Given the description of an element on the screen output the (x, y) to click on. 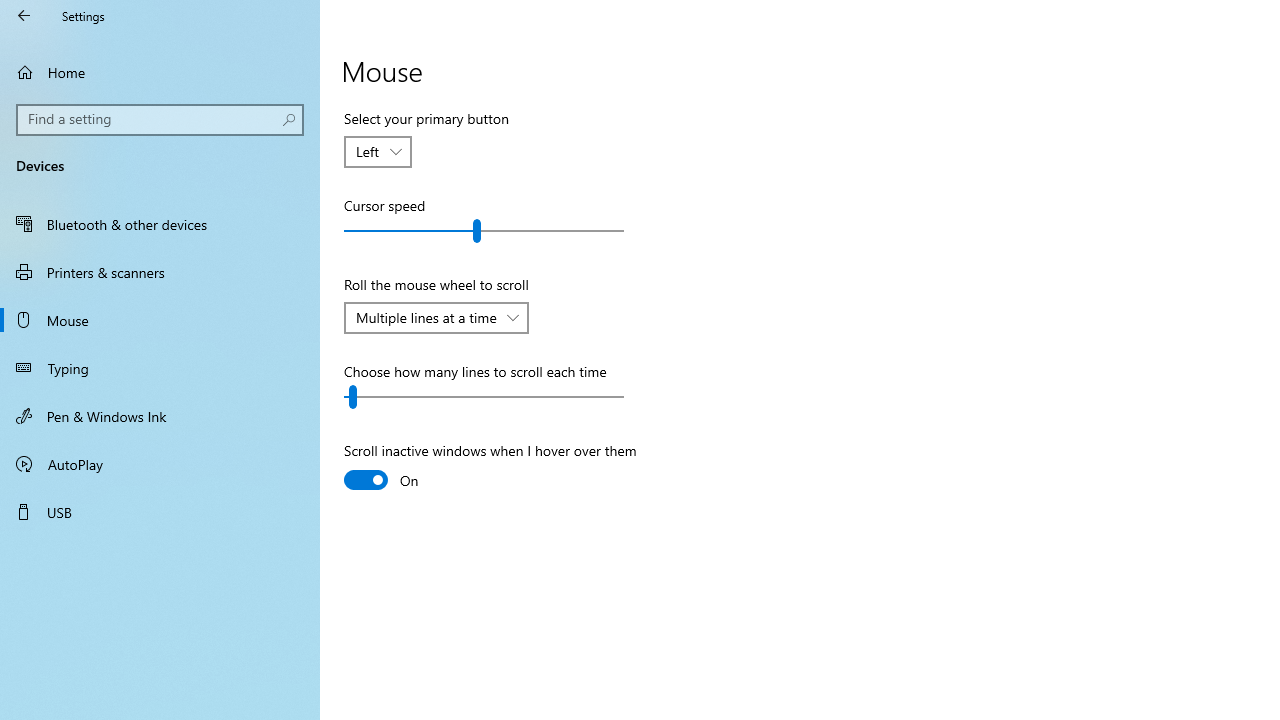
Bluetooth & other devices (160, 223)
Multiple lines at a time (425, 317)
